Given the description of an element on the screen output the (x, y) to click on. 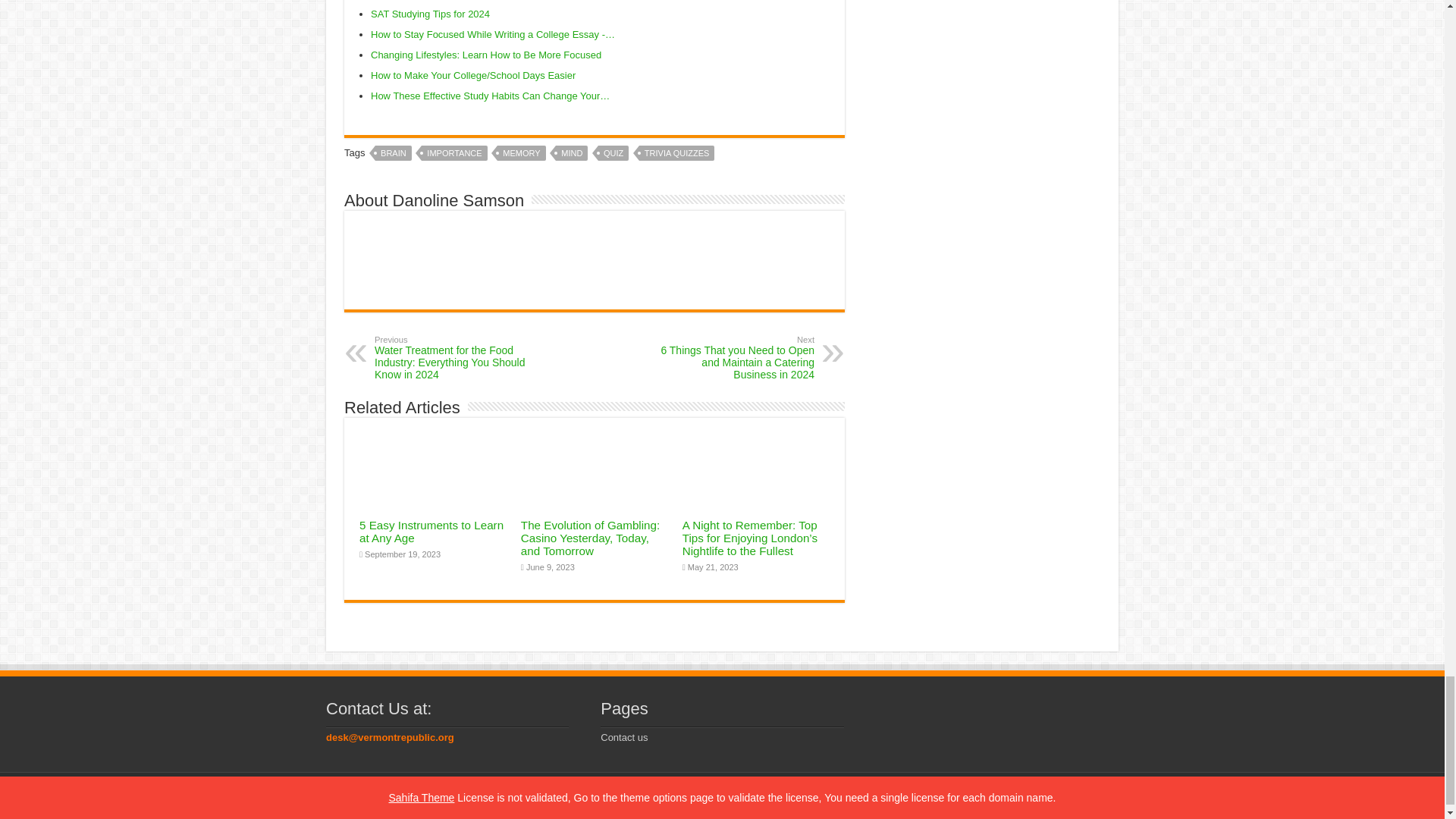
QUIZ (613, 152)
BRAIN (393, 152)
TRIVIA QUIZZES (676, 152)
IMPORTANCE (454, 152)
MIND (572, 152)
MEMORY (520, 152)
Changing Lifestyles: Learn How to Be More Focused (486, 54)
SAT Studying Tips for 2024 (430, 13)
